Given the description of an element on the screen output the (x, y) to click on. 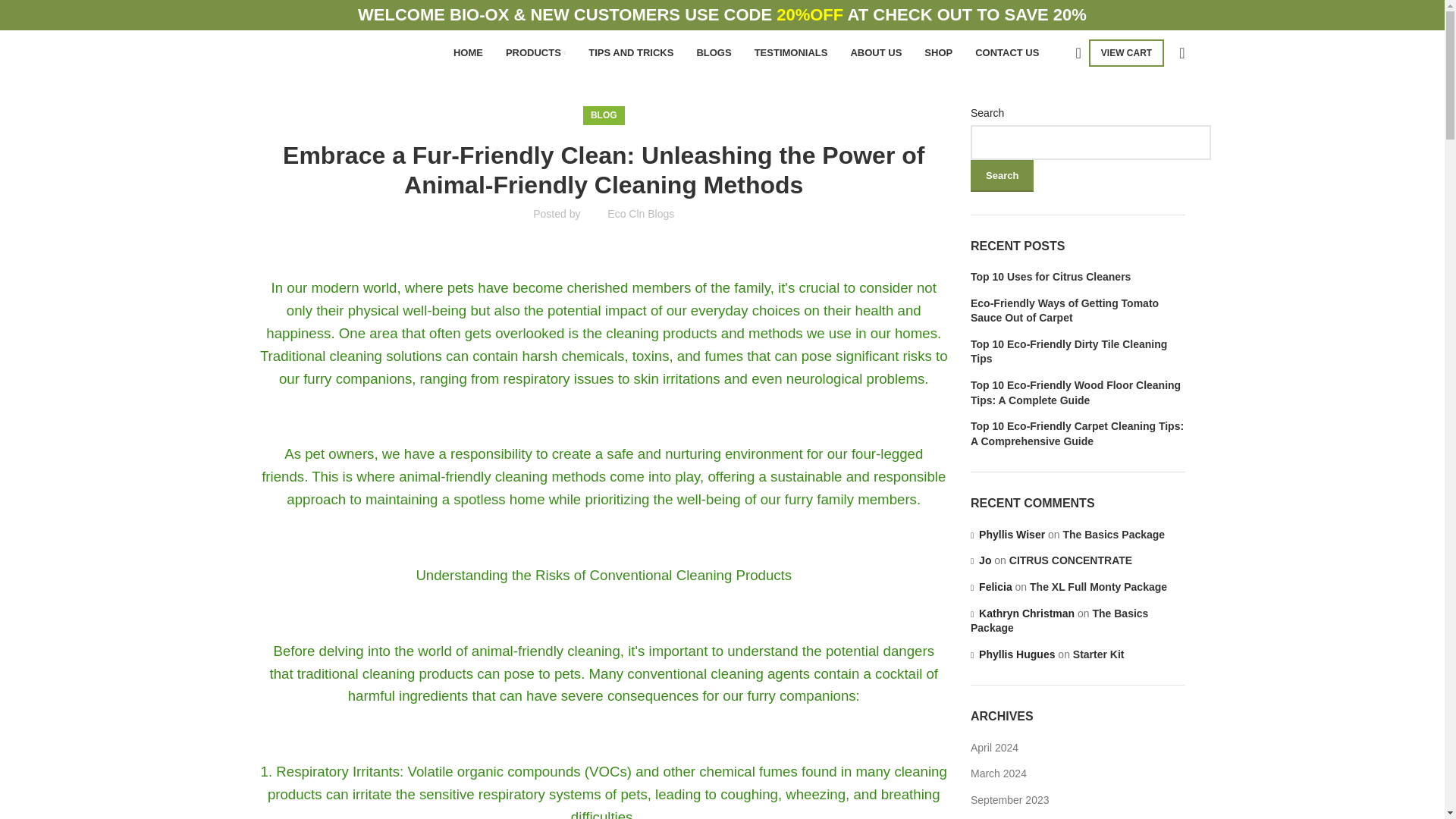
BLOGS (712, 52)
Eco Cln Blogs (640, 214)
TIPS AND TRICKS (630, 52)
Search (1002, 175)
HOME (467, 52)
BLOG (604, 115)
VIEW CART (1126, 52)
ABOUT US (875, 52)
PRODUCTS (535, 52)
Top 10 Uses for Citrus Cleaners (1078, 277)
Top 10 Eco-Friendly Dirty Tile Cleaning Tips (1078, 351)
TESTIMONIALS (791, 52)
Eco-Friendly Ways of Getting Tomato Sauce Out of Carpet (1078, 310)
SHOP (938, 52)
